Given the description of an element on the screen output the (x, y) to click on. 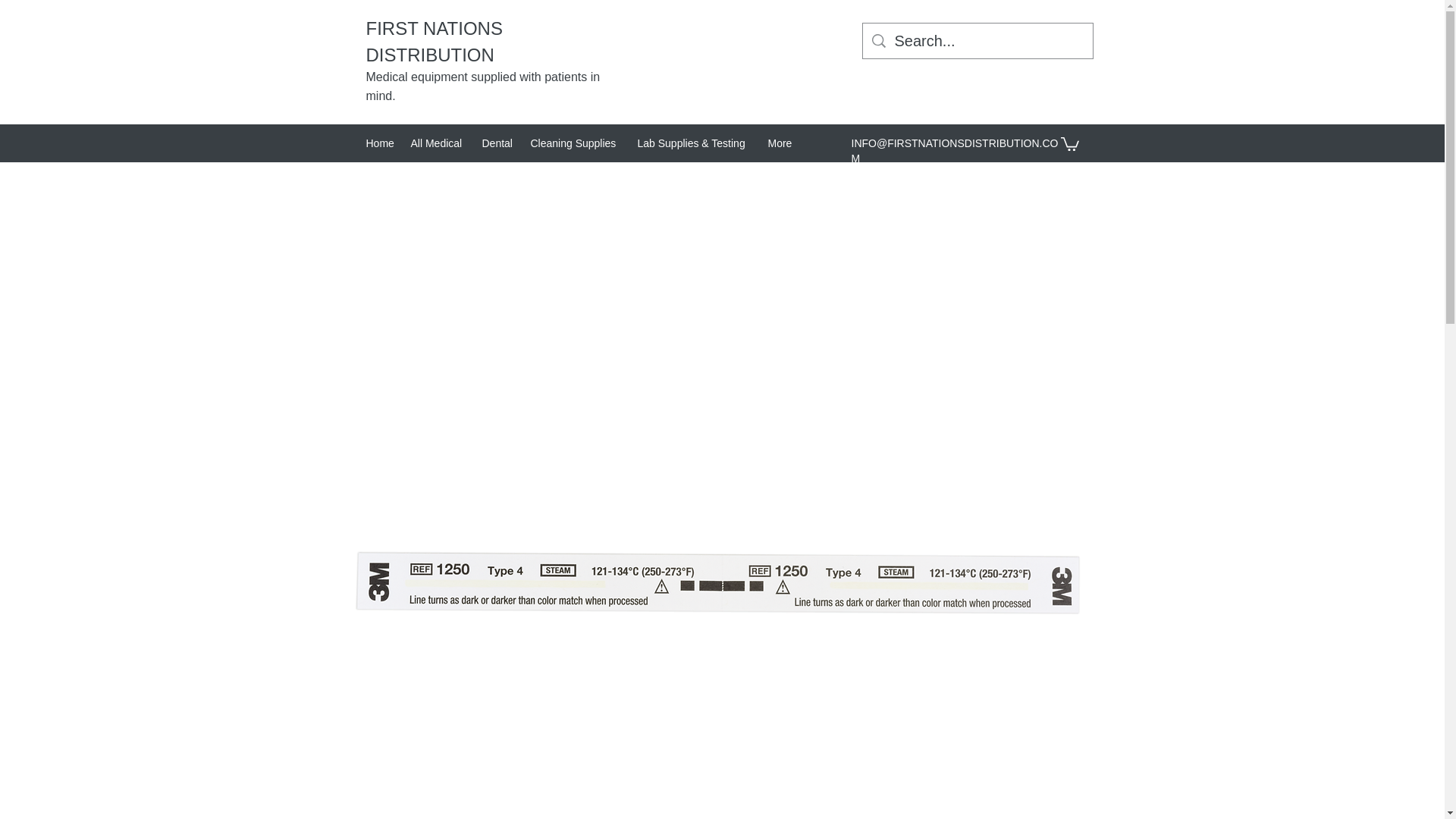
Home (380, 142)
Dental (498, 142)
All Medical (438, 142)
Cleaning Supplies (576, 142)
